Given the description of an element on the screen output the (x, y) to click on. 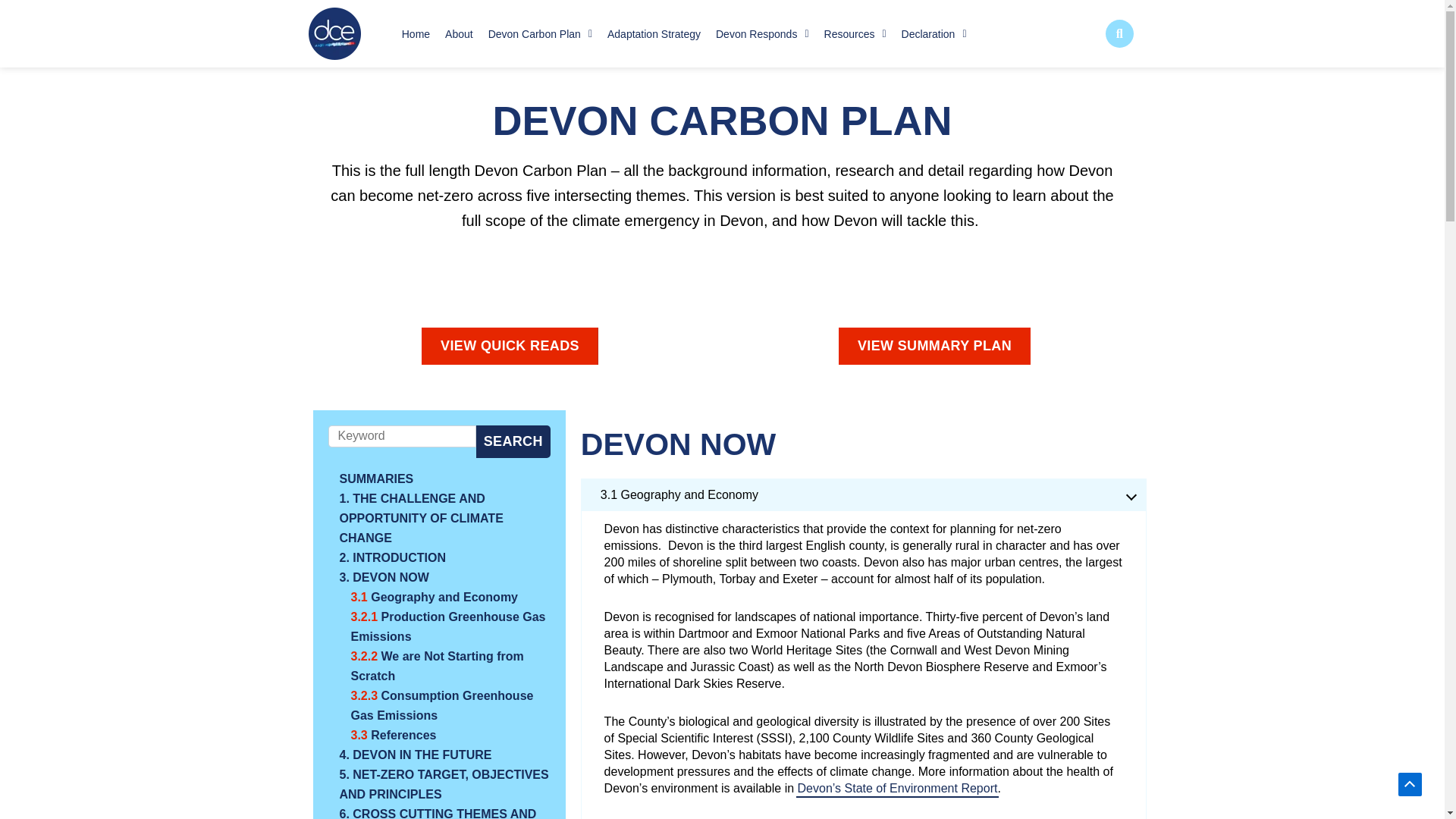
Home (416, 33)
Scroll to Top (1409, 784)
Declaration (933, 33)
Resources (854, 33)
About (459, 33)
Devon Carbon Plan (539, 33)
Adaptation Strategy (653, 33)
Devon Responds (761, 33)
